Given the description of an element on the screen output the (x, y) to click on. 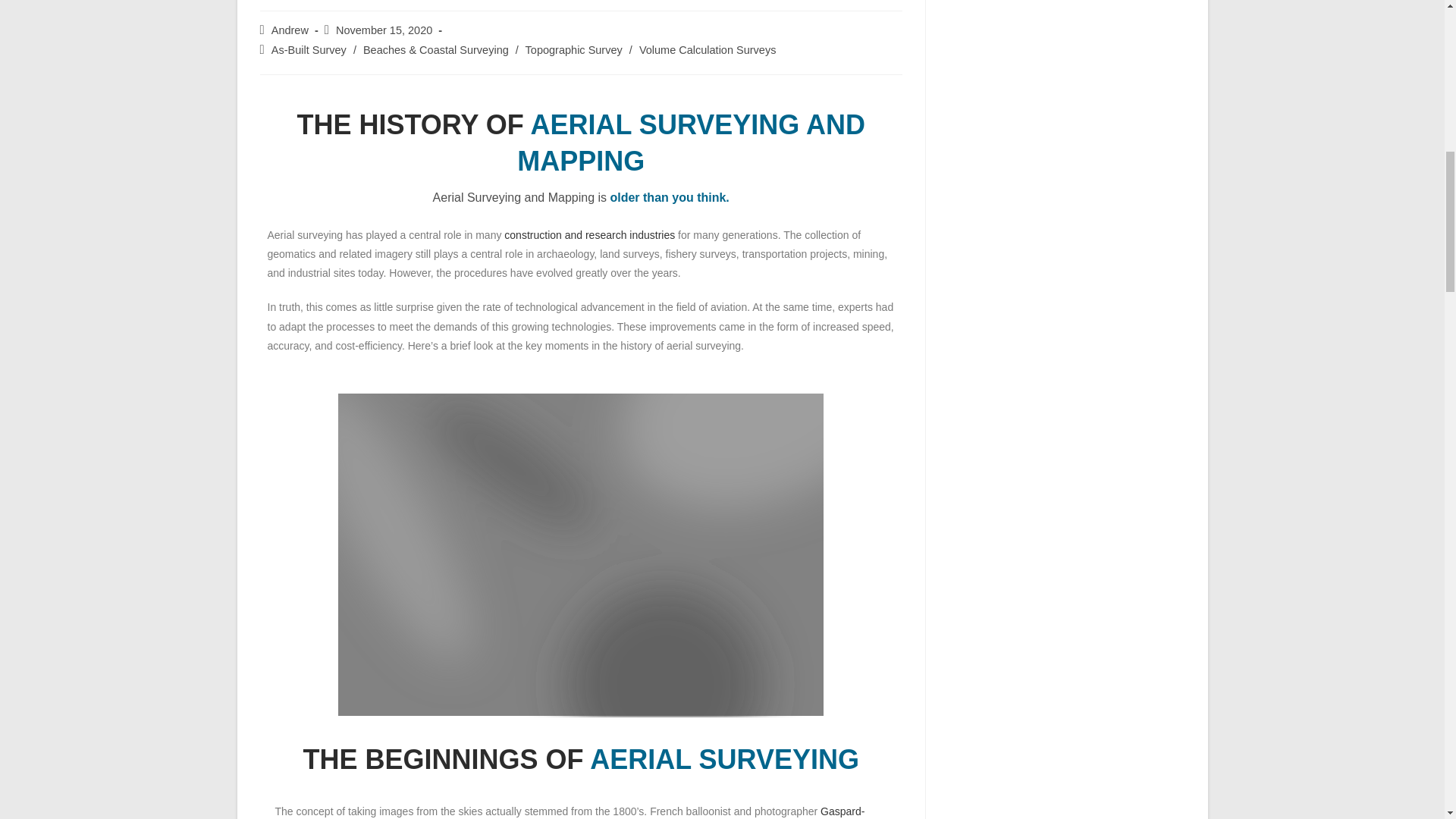
Posts by Andrew (289, 30)
